Given the description of an element on the screen output the (x, y) to click on. 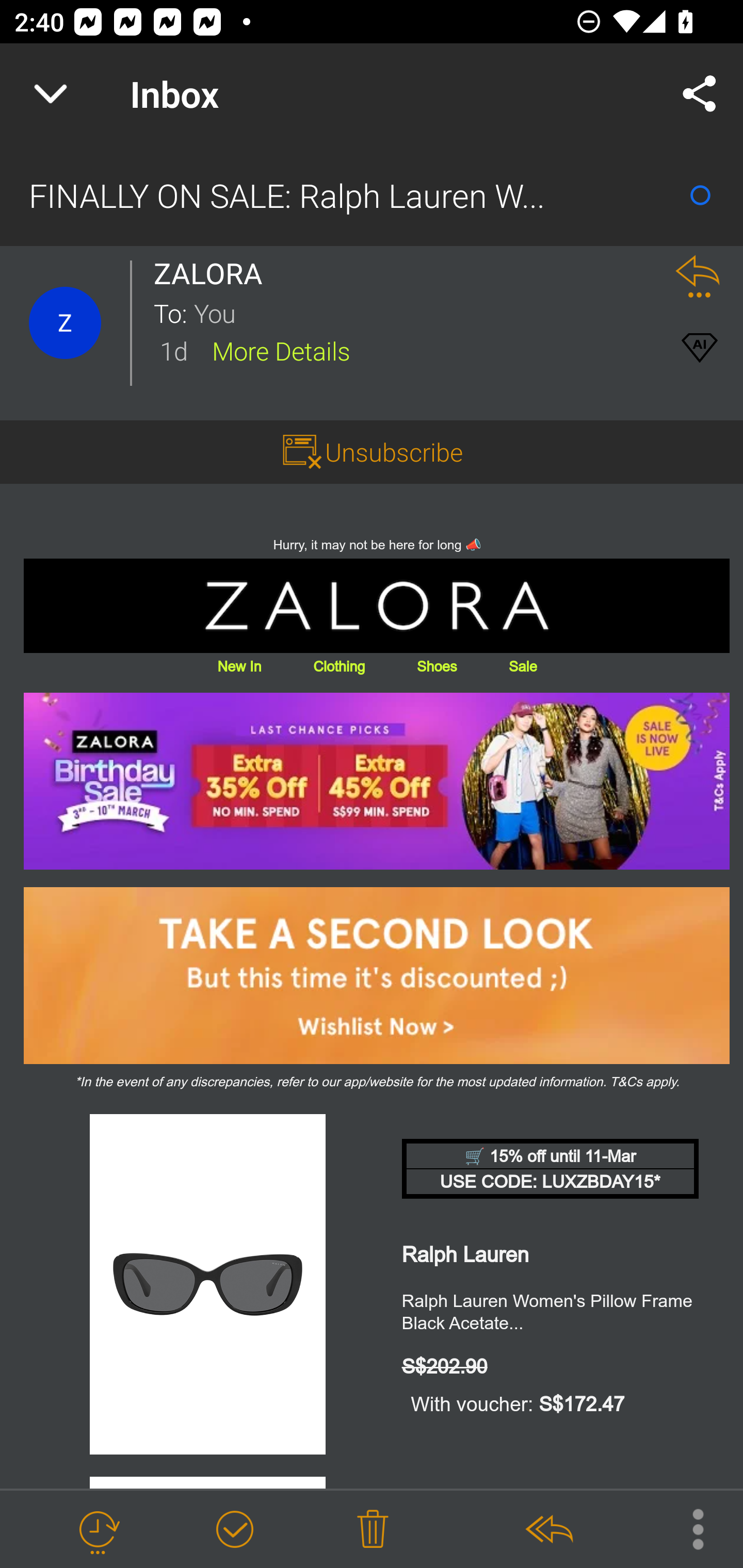
Navigate up (50, 93)
Share (699, 93)
Mark as Read (699, 194)
ZALORA (213, 273)
Contact Details (64, 322)
More Details (280, 349)
Unsubscribe (393, 451)
ZALORA (377, 605)
New In (238, 665)
Clothing (339, 665)
Shoes (436, 665)
Sale (522, 665)
click?upn=u001 (377, 780)
More Options (687, 1528)
Snooze (97, 1529)
Mark as Done (234, 1529)
Delete (372, 1529)
Reply All (548, 1529)
